Given the description of an element on the screen output the (x, y) to click on. 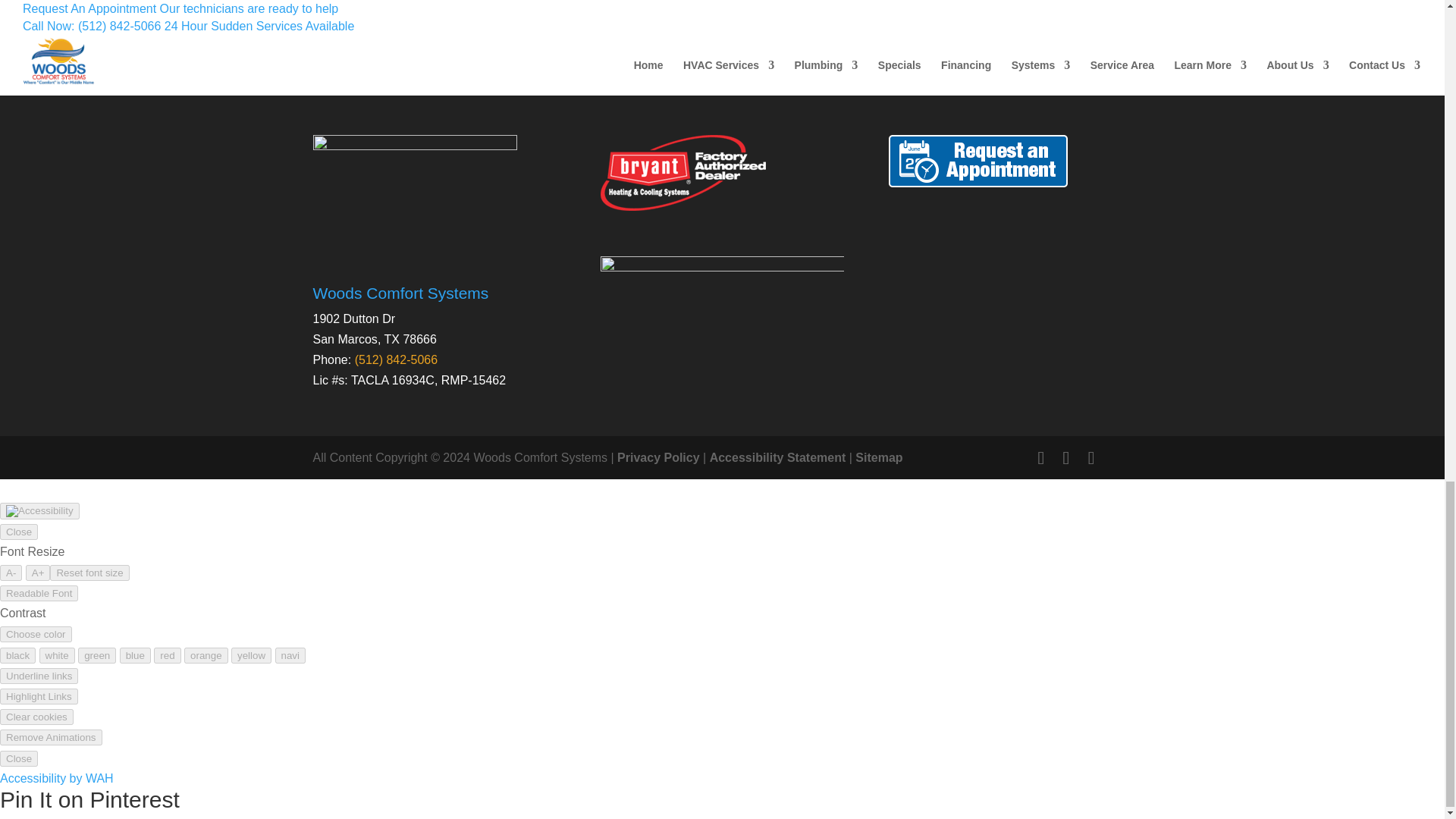
smaller font size (10, 572)
Accessibility Helper sidebar (40, 510)
Reset font size (89, 572)
larger font size (38, 572)
Contrast (35, 634)
Close (18, 531)
Readable Font (39, 593)
